Given the description of an element on the screen output the (x, y) to click on. 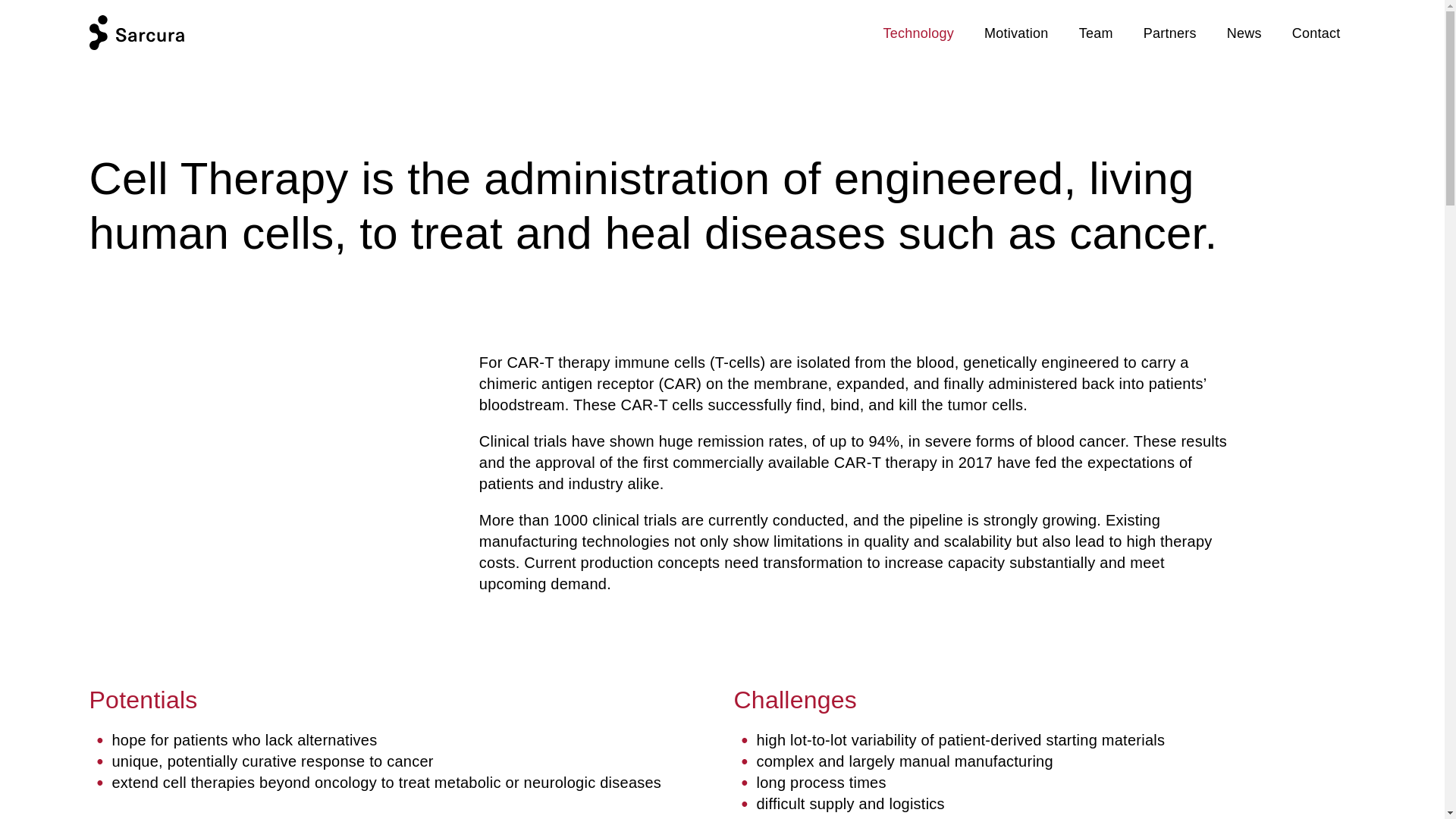
Partners (1169, 32)
Team (1095, 32)
Contact (1316, 32)
Motivation (1016, 32)
Technology (919, 32)
News (1244, 32)
